Given the description of an element on the screen output the (x, y) to click on. 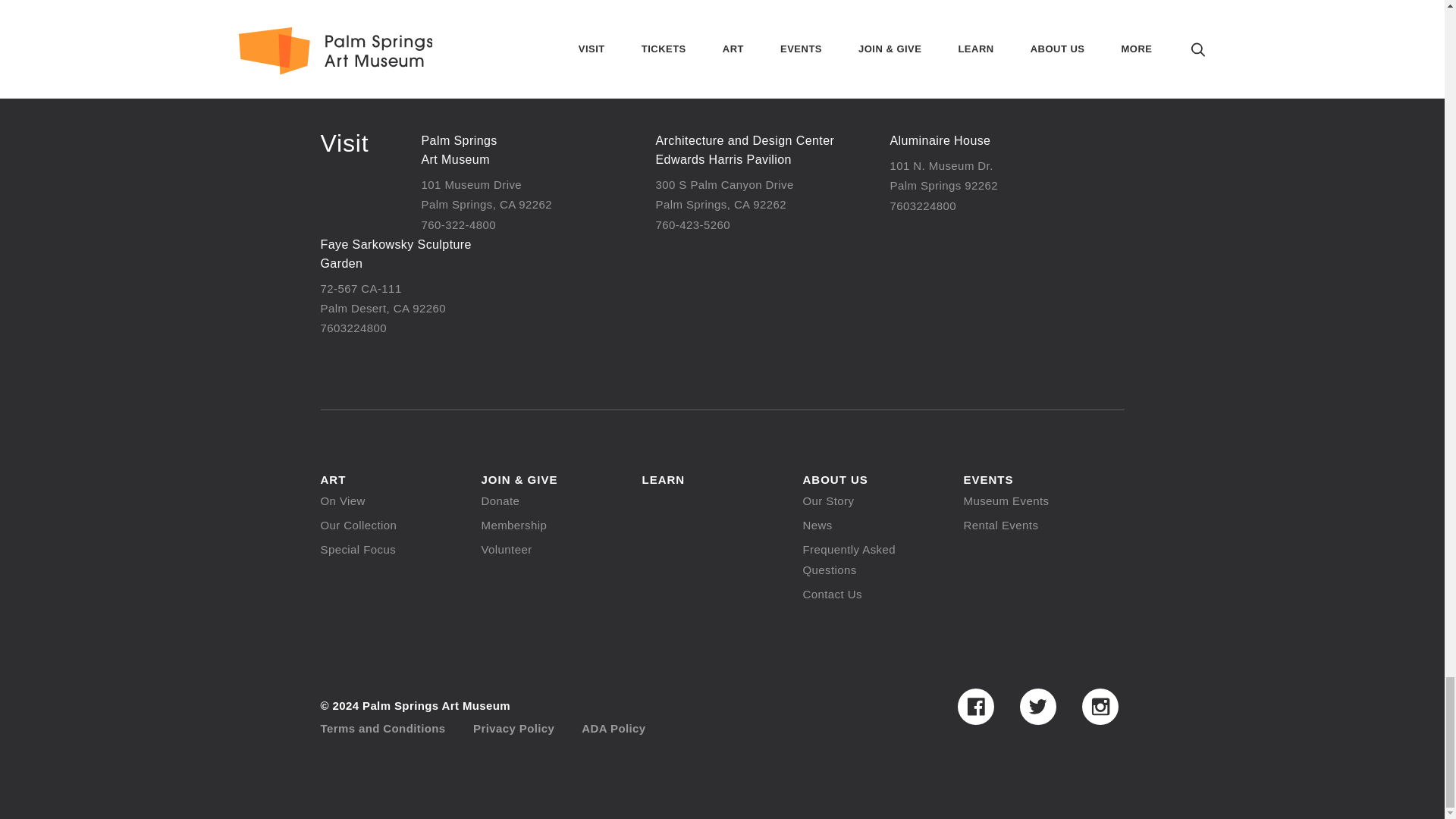
Twitter icon (1037, 706)
Facebook icon (974, 706)
Instagram icon (1099, 706)
